Given the description of an element on the screen output the (x, y) to click on. 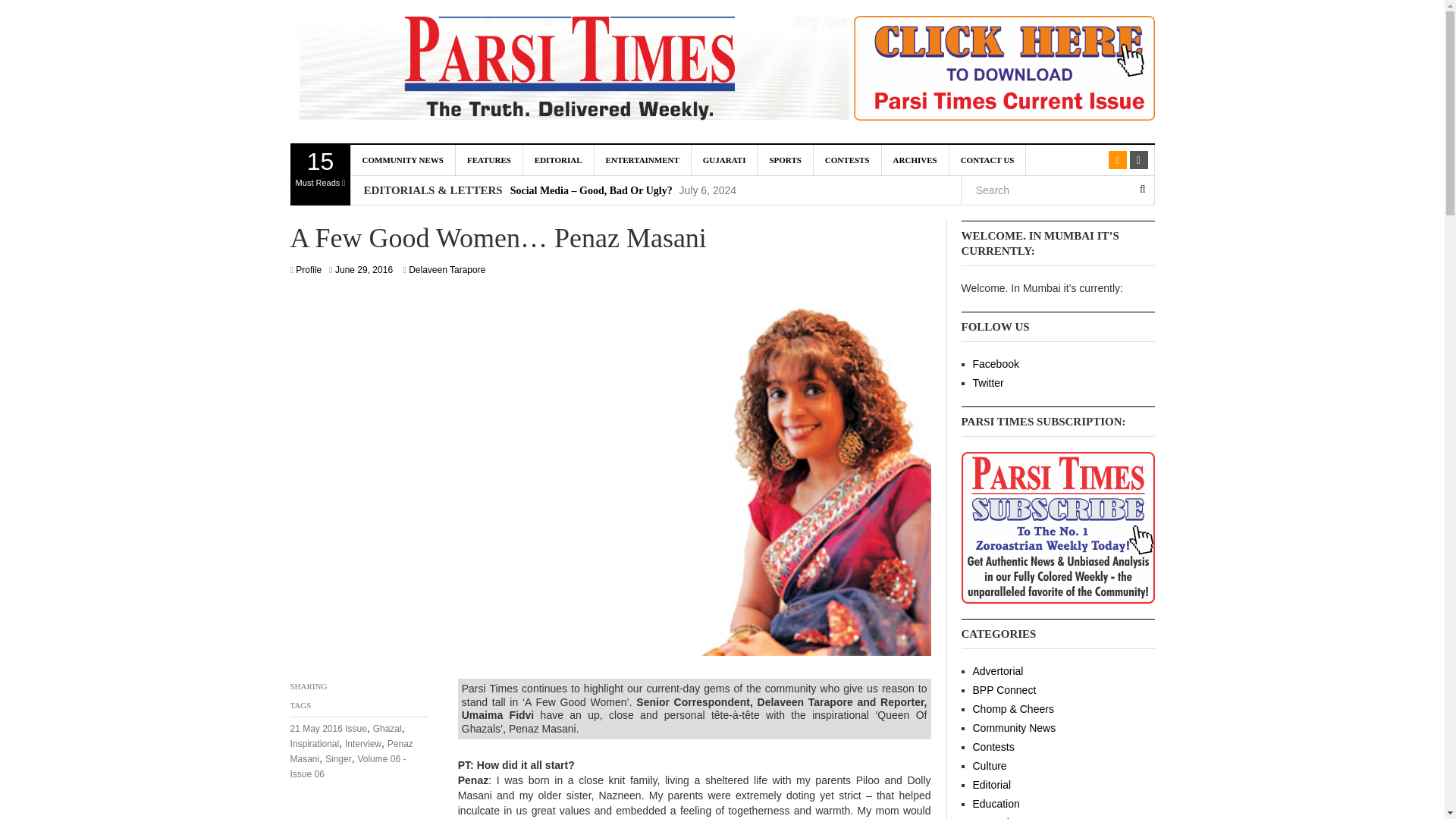
PT SUBSCRIPTION (1057, 526)
COMMUNITY NEWS (402, 159)
PT Subscription (1012, 71)
Parsi Times (564, 71)
FEATURES (319, 174)
